Given the description of an element on the screen output the (x, y) to click on. 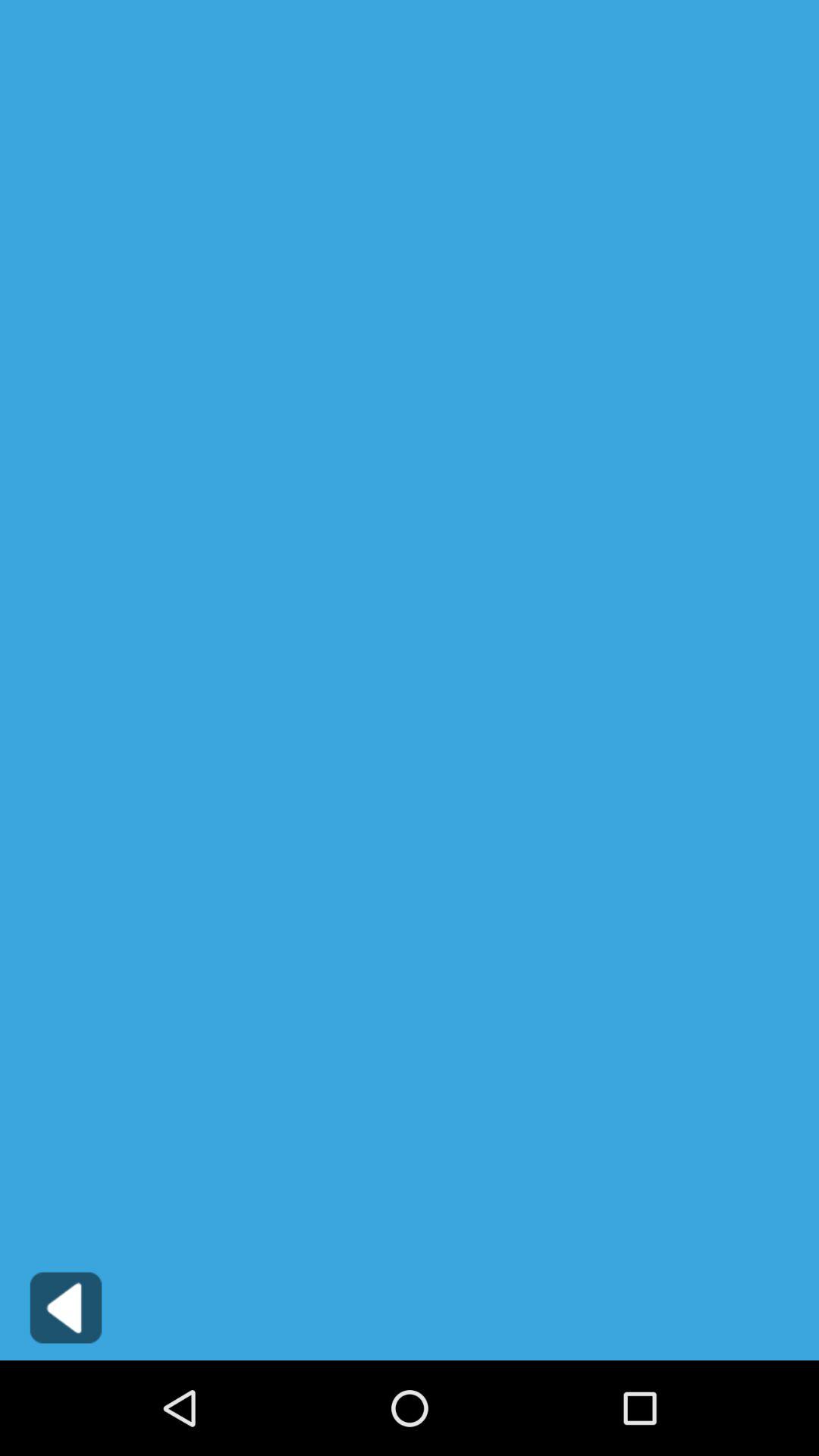
turn on icon at the bottom left corner (65, 1307)
